Given the description of an element on the screen output the (x, y) to click on. 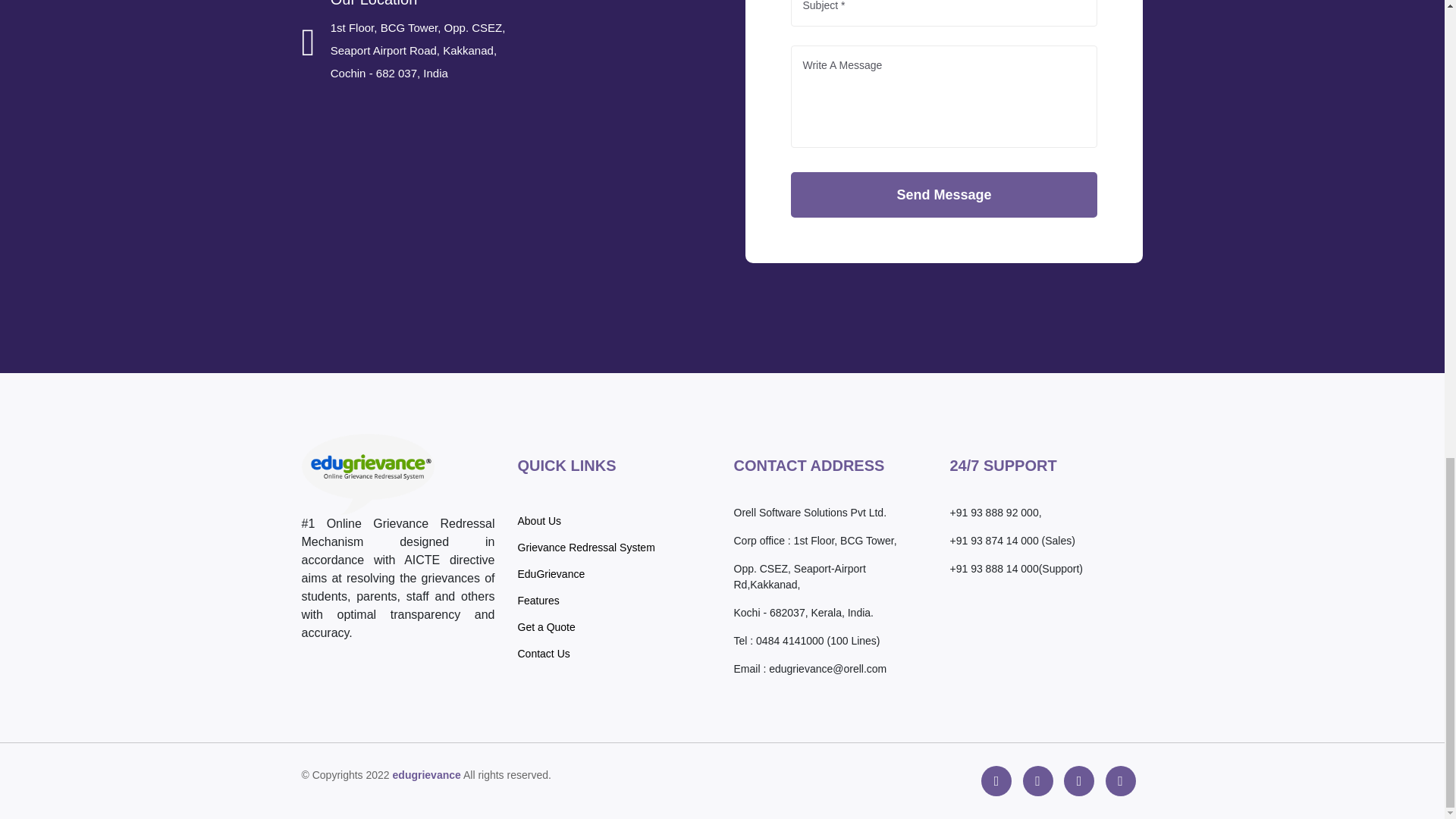
Contact Us (542, 653)
EduGrievance (550, 573)
edugrievance (427, 774)
Features (537, 599)
About Us (538, 520)
Send Message (943, 194)
Grievance Redressal System (584, 547)
Get a Quote (545, 627)
